Given the description of an element on the screen output the (x, y) to click on. 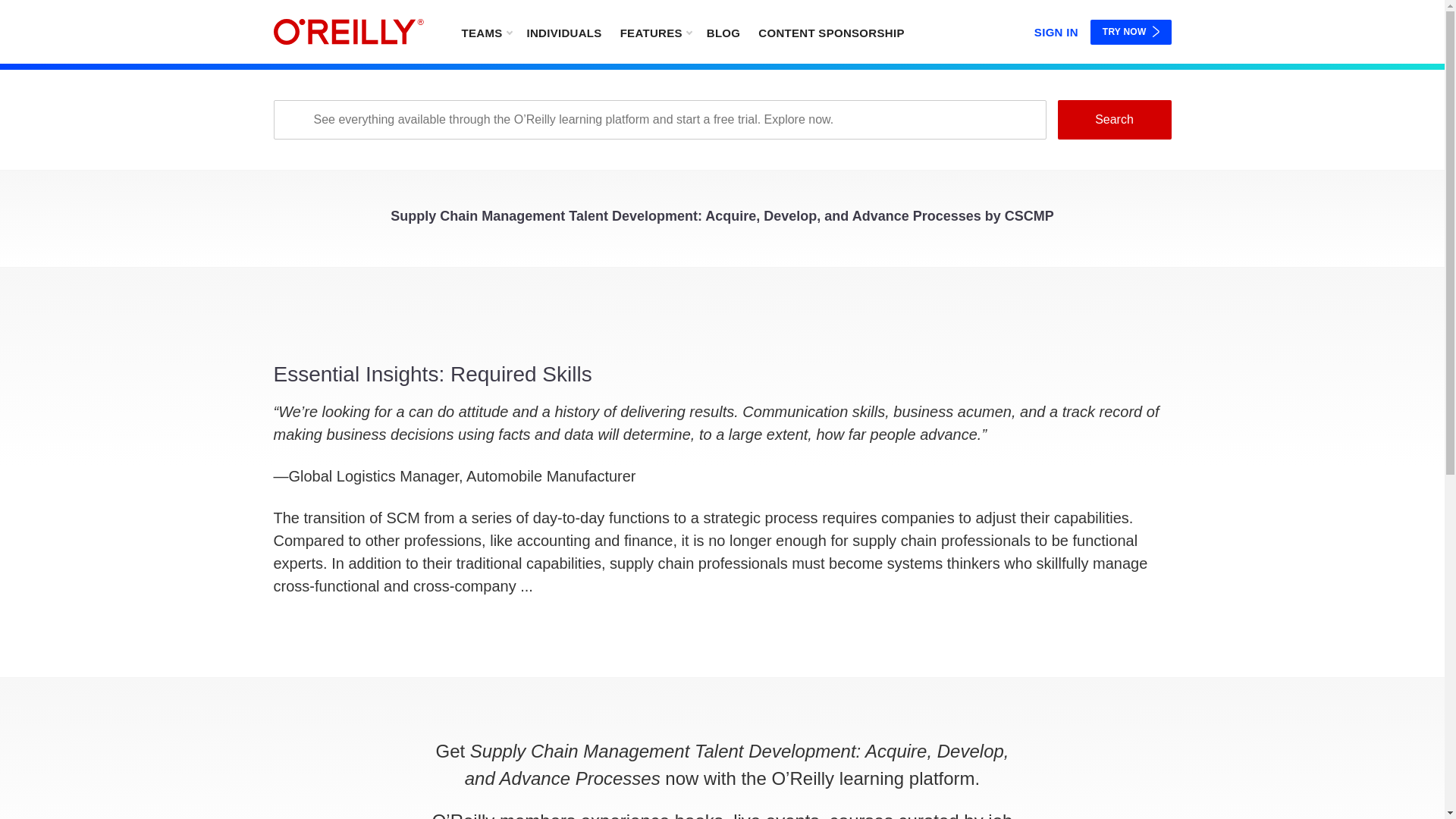
BLOG (723, 31)
Search (1113, 119)
Search (1113, 119)
Search (1113, 119)
TEAMS (486, 31)
home page (348, 31)
INDIVIDUALS (563, 31)
CONTENT SPONSORSHIP (831, 31)
TRY NOW (1131, 32)
